Given the description of an element on the screen output the (x, y) to click on. 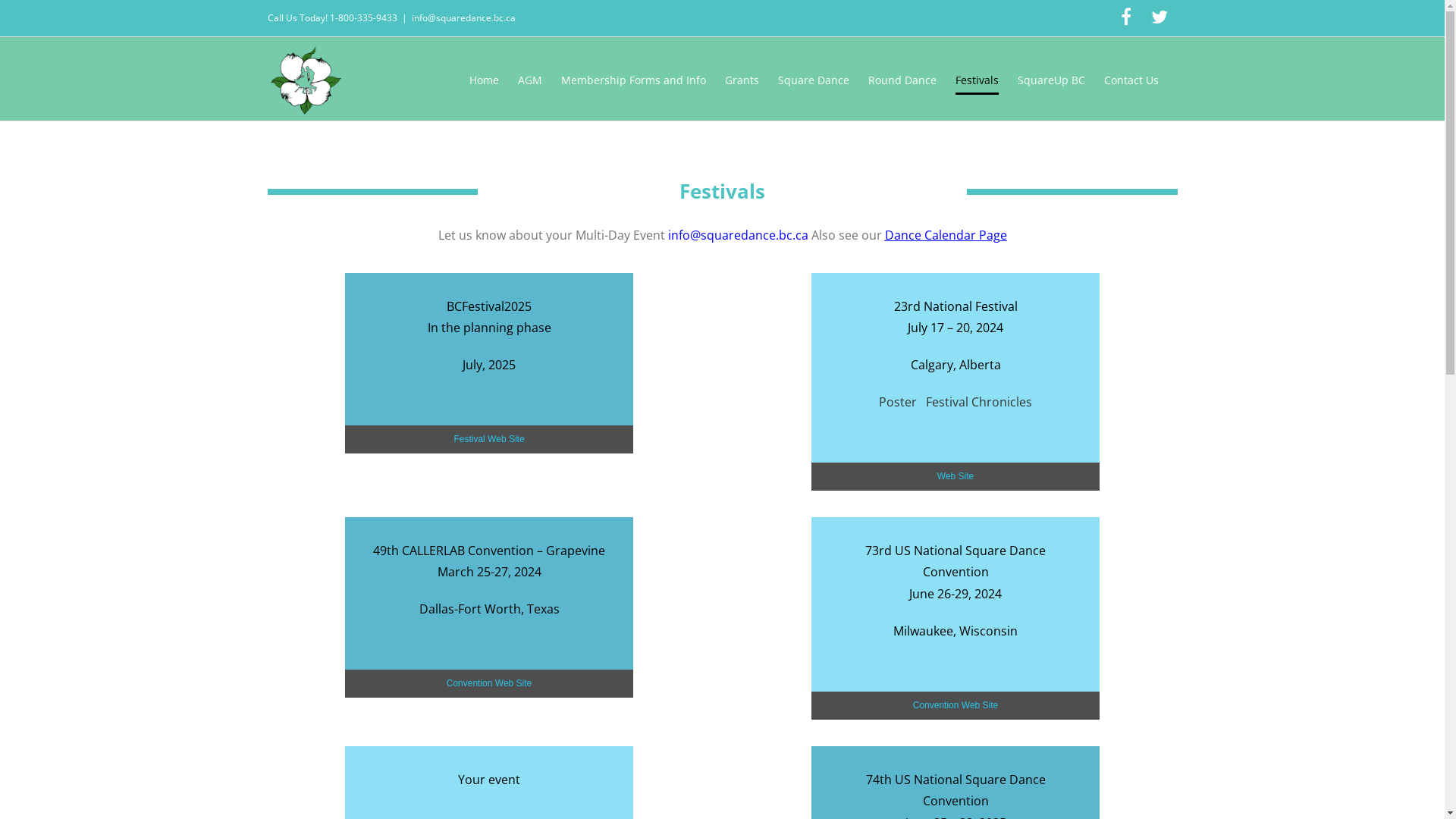
info@squaredance.bc.ca Element type: text (462, 17)
Membership Forms and Info Element type: text (633, 80)
Round Dance Element type: text (901, 80)
Convention Web Site Element type: text (955, 705)
Home Element type: text (483, 80)
Dance Calendar Page Element type: text (945, 234)
Convention Web Site Element type: text (489, 683)
Festival Chronicles Element type: text (978, 401)
Web Site Element type: text (955, 476)
Grants Element type: text (741, 80)
Festivals Element type: text (976, 80)
AGM Element type: text (529, 80)
info@squaredance.bc.ca Element type: text (737, 234)
Festival Web Site Element type: text (489, 439)
Contact Us Element type: text (1131, 80)
Square Dance Element type: text (813, 80)
Poster Element type: text (897, 401)
SquareUp BC Element type: text (1051, 80)
